Given the description of an element on the screen output the (x, y) to click on. 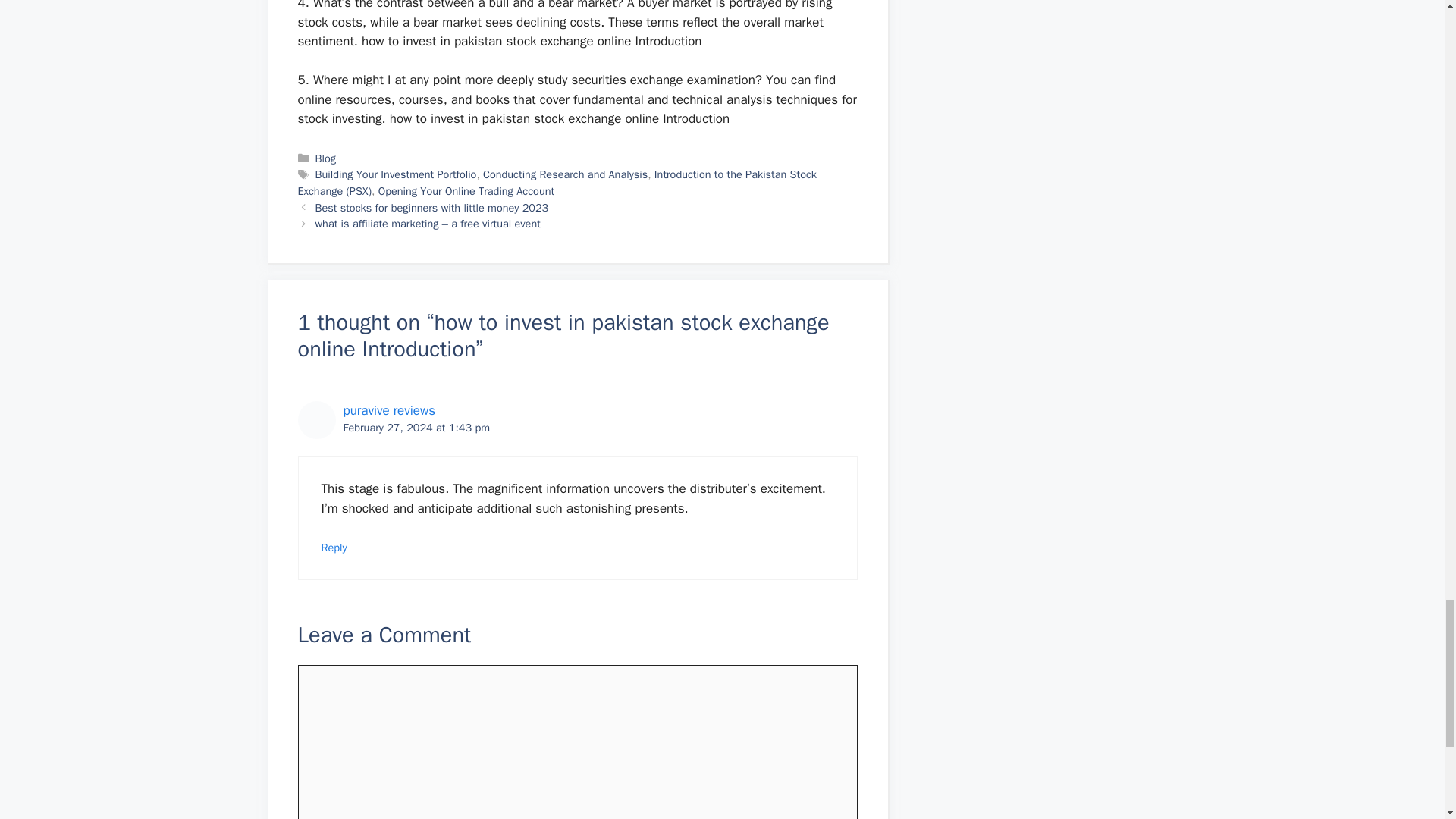
Conducting Research and Analysis (565, 173)
Building Your Investment Portfolio (396, 173)
Reply (334, 547)
Opening Your Online Trading Account (466, 191)
puravive reviews (388, 410)
February 27, 2024 at 1:43 pm (415, 427)
Best stocks for beginners with little money 2023 (431, 207)
Blog (325, 158)
